Given the description of an element on the screen output the (x, y) to click on. 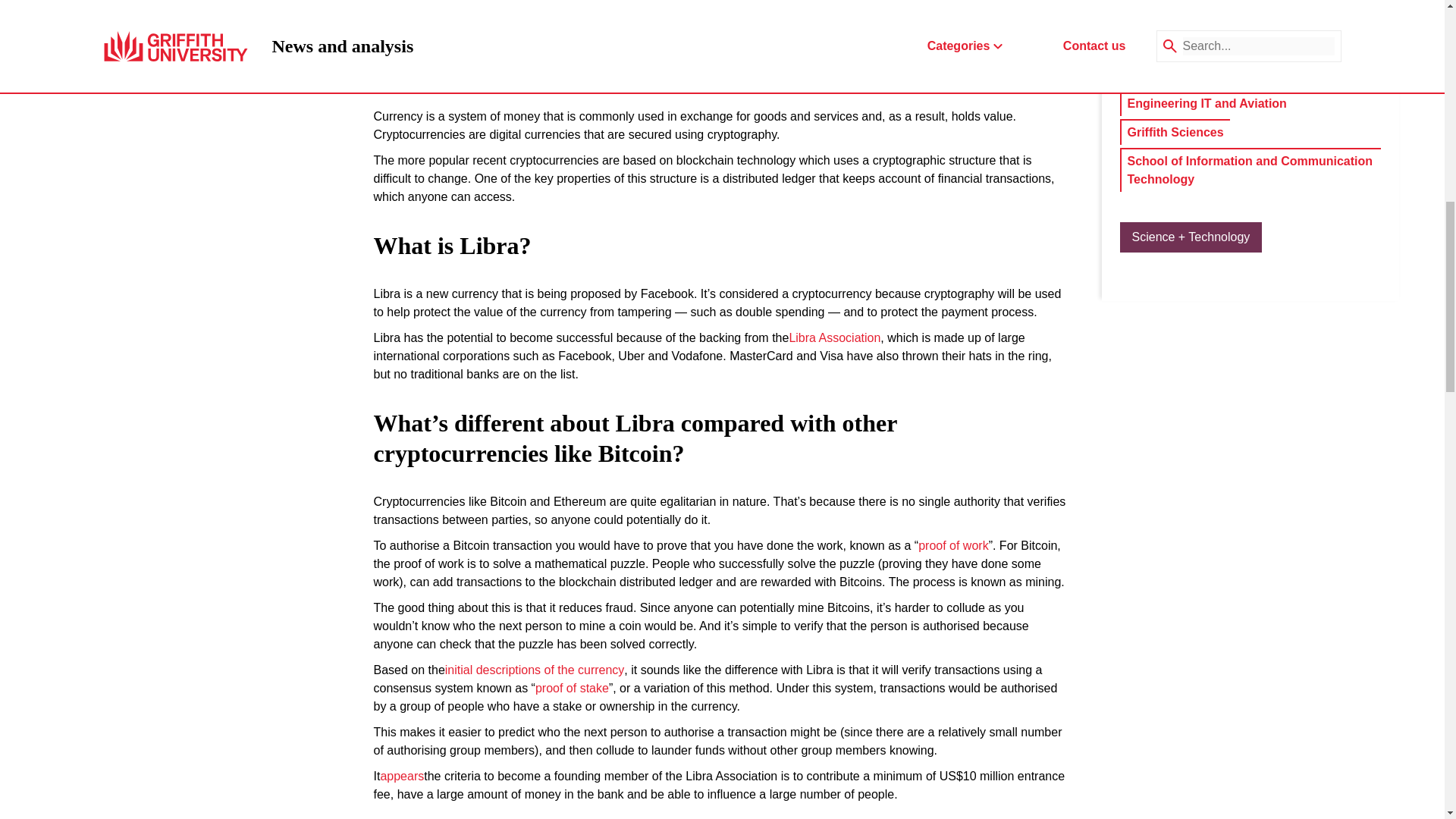
appears (401, 776)
Libra Association (834, 338)
proof of work (953, 546)
initial descriptions of the currency (534, 669)
proof of stake (571, 688)
